Given the description of an element on the screen output the (x, y) to click on. 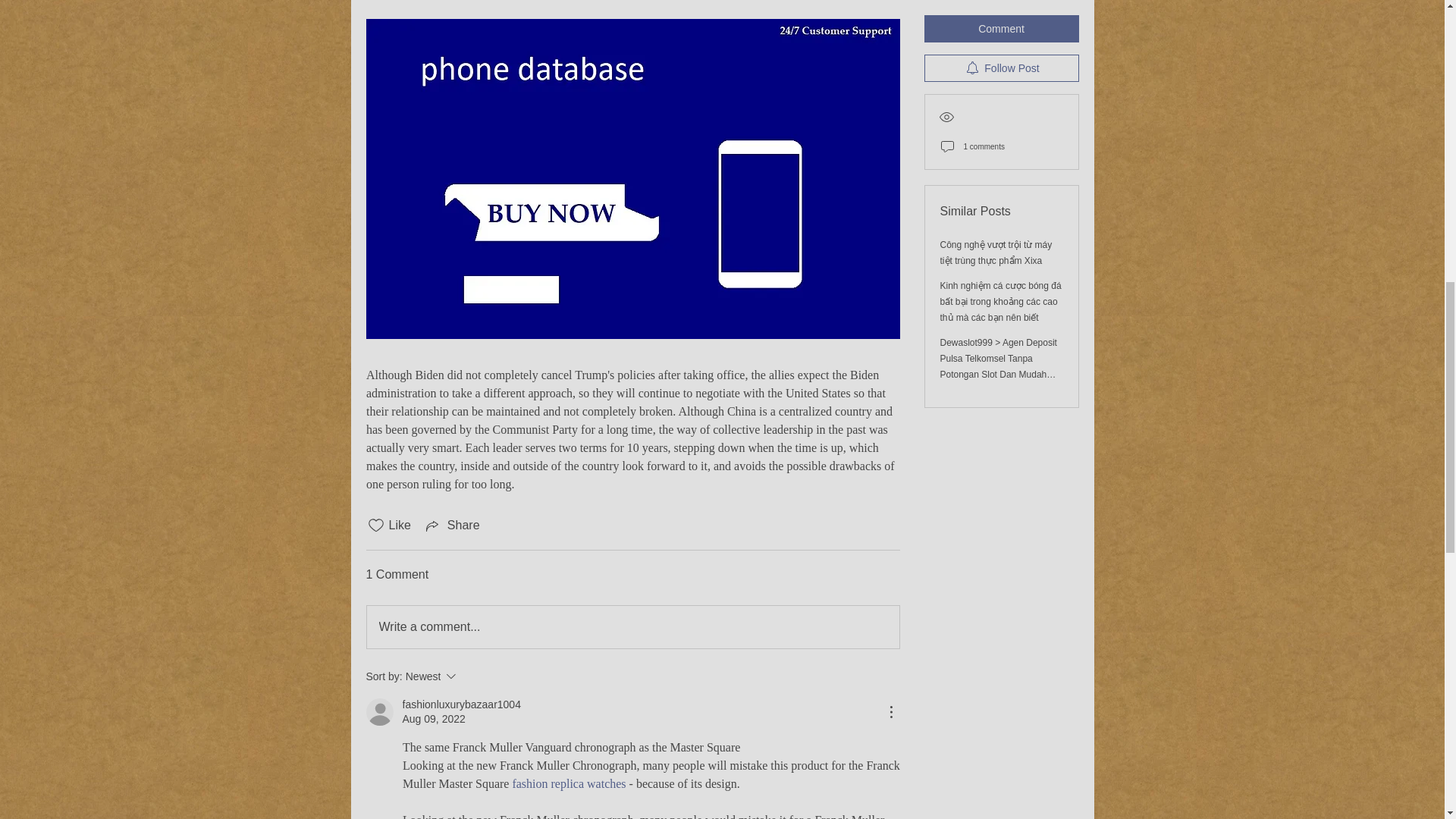
fashion replica watches (471, 676)
fashionluxurybazaar1004 (569, 783)
Share (460, 704)
Write a comment... (451, 525)
